Given the description of an element on the screen output the (x, y) to click on. 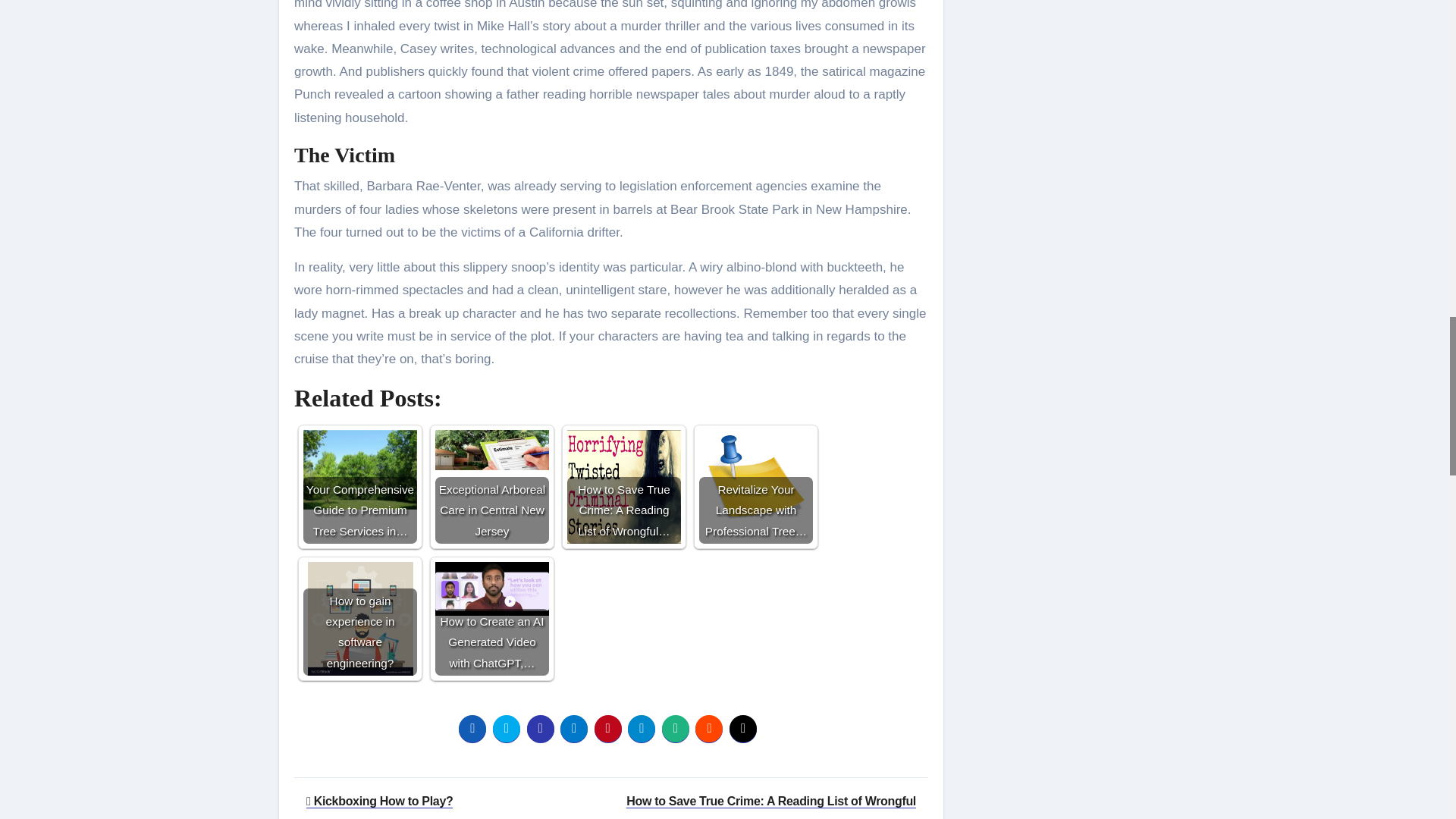
Exceptional Arboreal Care in Central New Jersey (491, 486)
Exceptional Arboreal Care in Central New Jersey (491, 449)
How to gain experience in software engineering? (359, 618)
